Given the description of an element on the screen output the (x, y) to click on. 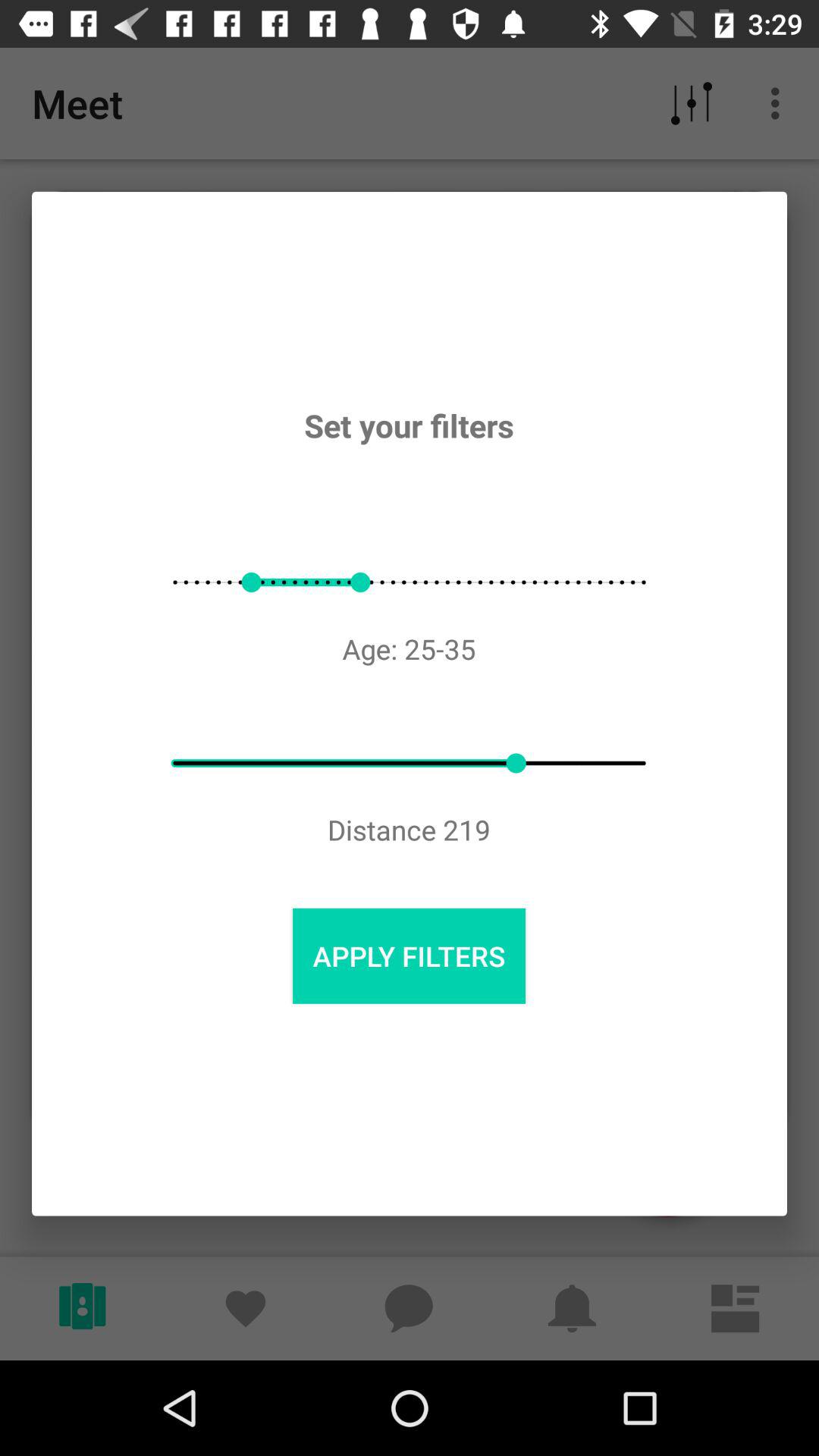
turn off the item below distance 219 icon (408, 955)
